Given the description of an element on the screen output the (x, y) to click on. 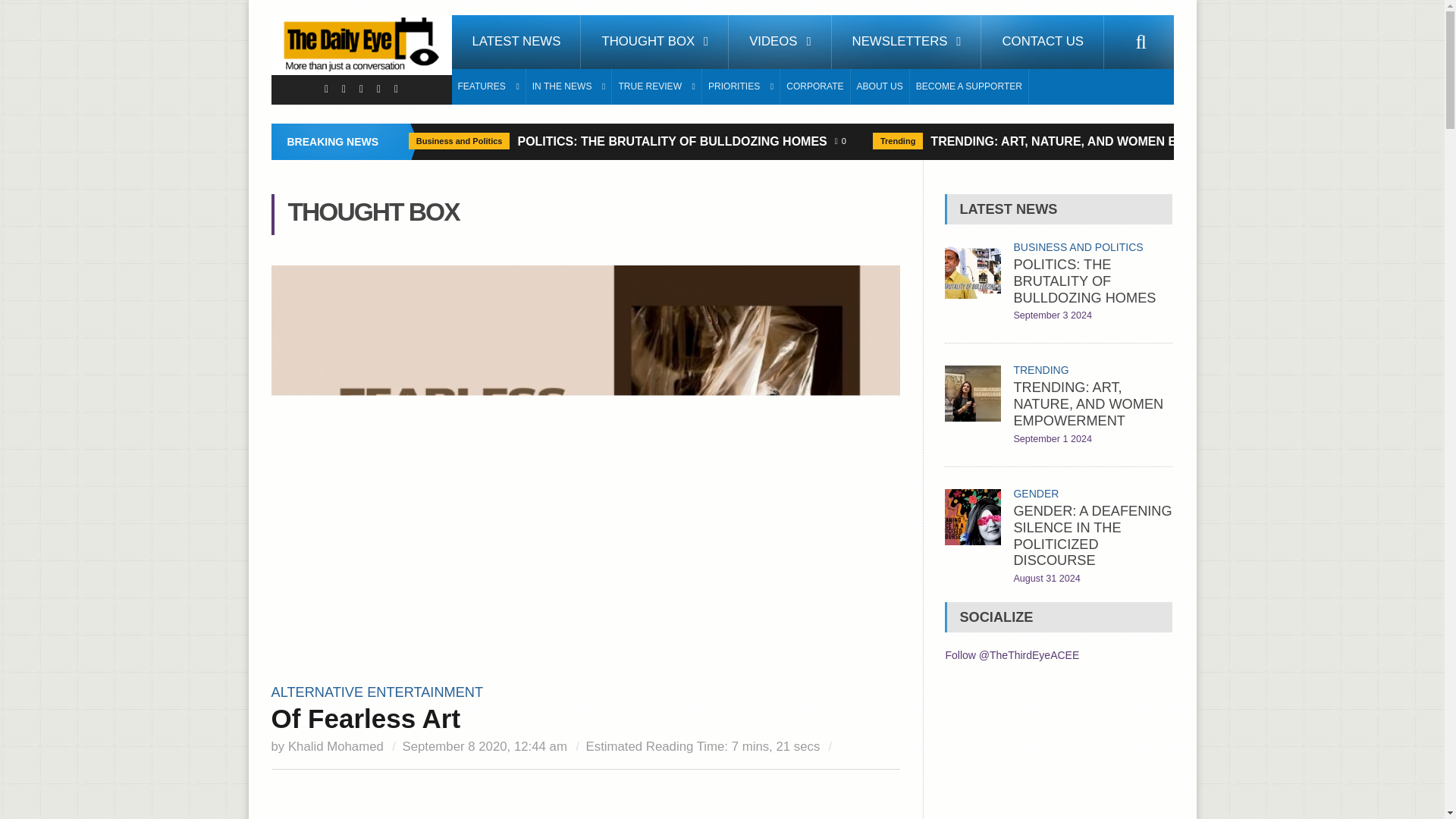
NEWSLETTERS (906, 41)
LATEST NEWS (515, 41)
VIDEOS (780, 41)
THOUGHT BOX (654, 41)
search (1140, 42)
